Given the description of an element on the screen output the (x, y) to click on. 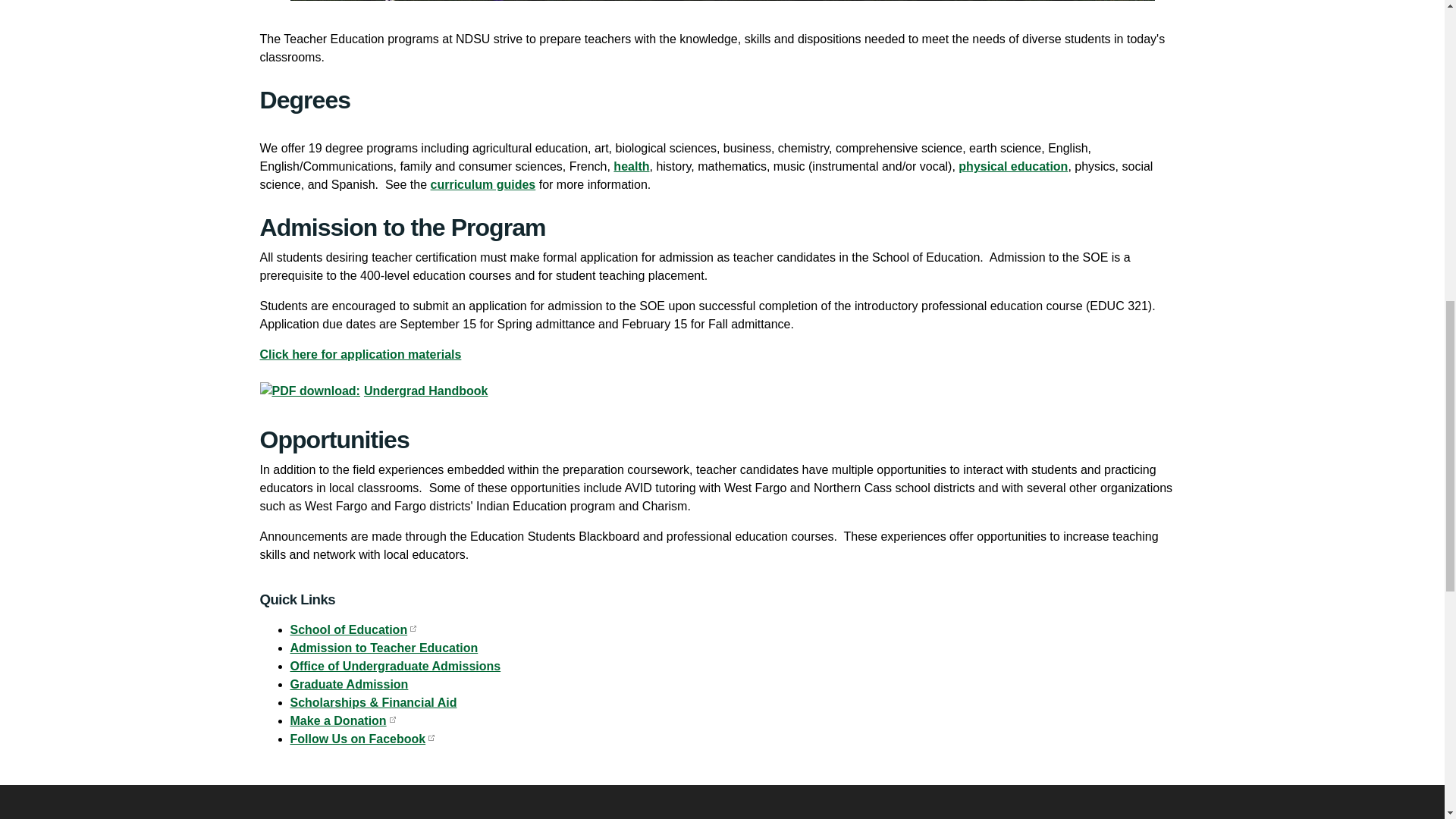
Undergraduate Admission (394, 666)
Graduate Admission (348, 684)
External link (482, 184)
School of Education (352, 629)
Make a Donation (341, 720)
Follow Us on Facebook (361, 738)
